Given the description of an element on the screen output the (x, y) to click on. 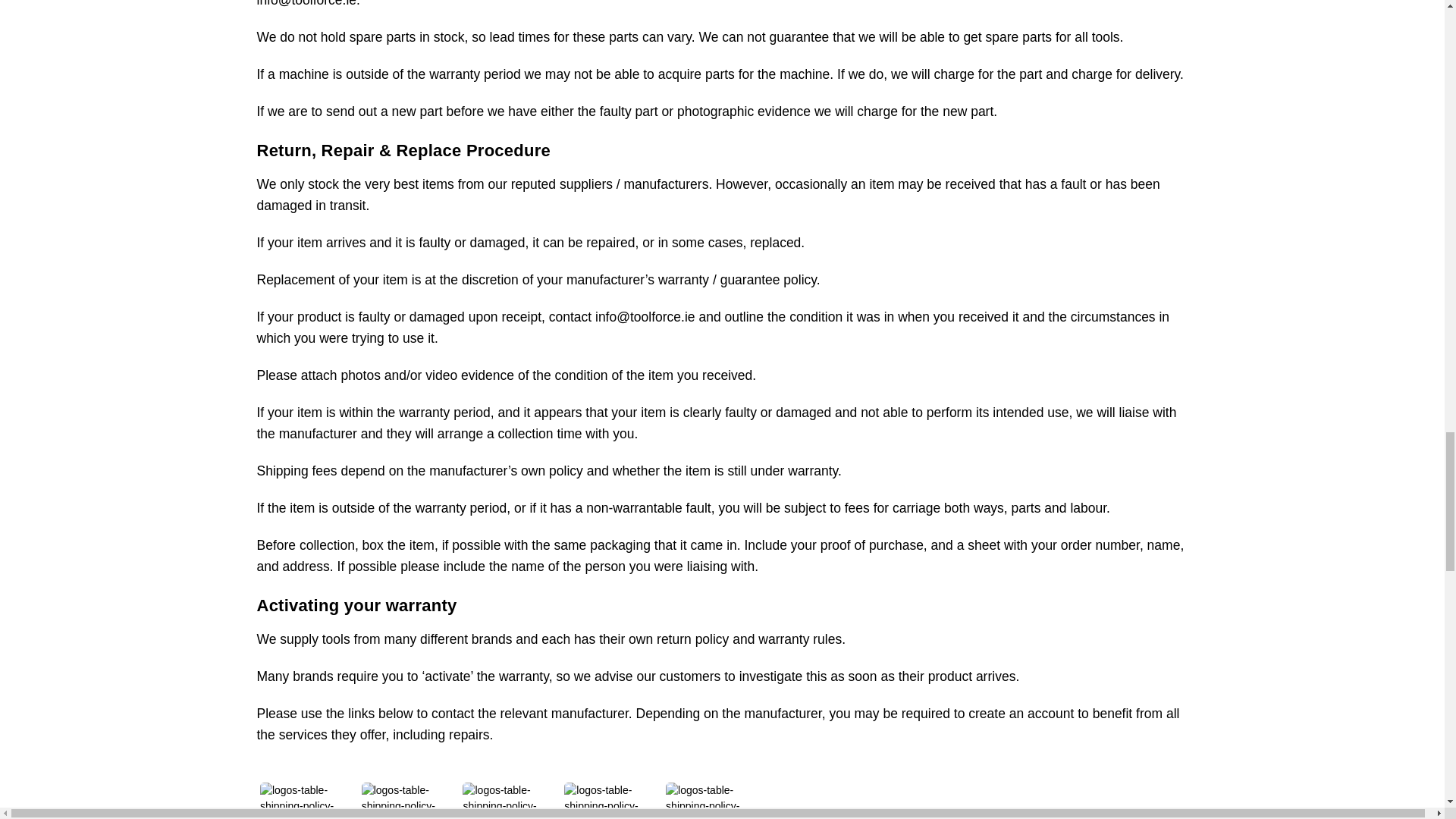
Milwaukee Warranty (307, 800)
SIP Warranty (611, 800)
Makita Warranty (409, 800)
logos-table-shipping-policy-1.png (307, 800)
logos-table-shipping-policy-2.png (409, 800)
logos-table-shipping-policy-3.png (510, 800)
logos-table-shipping-policy-4.png (611, 800)
Bosch Warranty (510, 800)
logos-table-shipping-policy-5.png (712, 800)
SIP Warranty (713, 800)
